Given the description of an element on the screen output the (x, y) to click on. 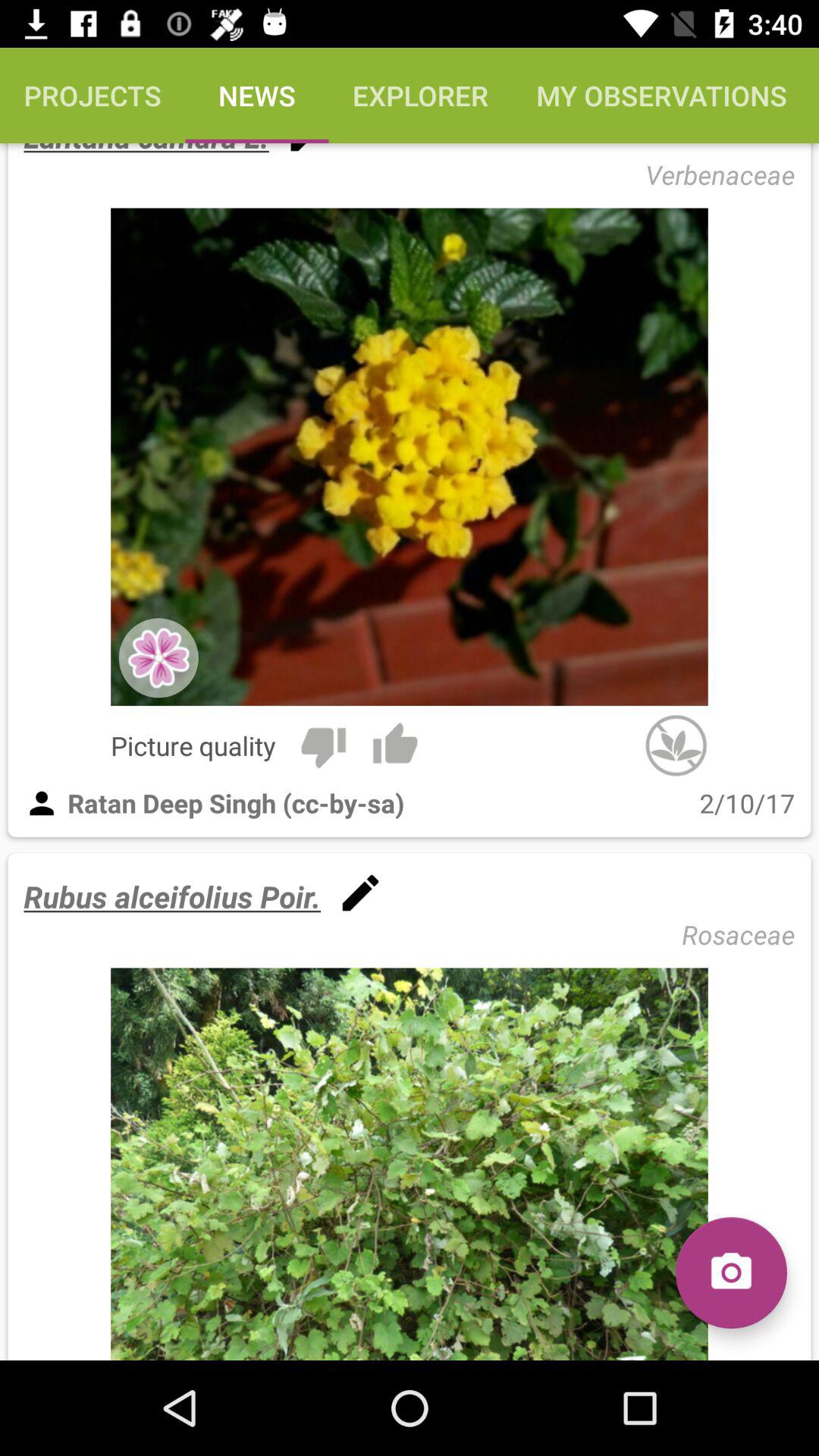
select the item above 2/10/17 (676, 745)
